Given the description of an element on the screen output the (x, y) to click on. 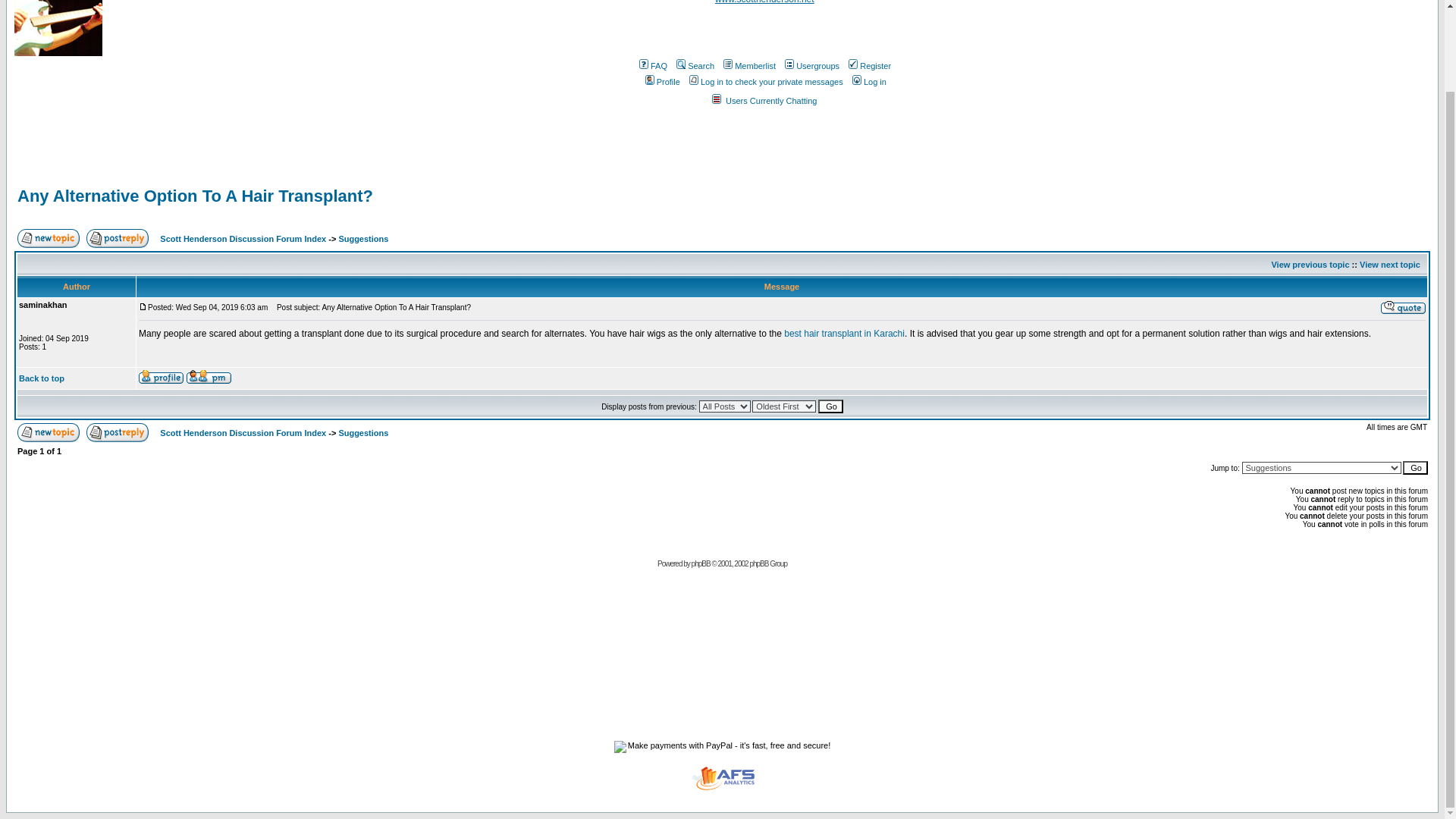
View user's profile (160, 377)
Memberlist (748, 65)
Scott Henderson Discussion Forum Index (243, 432)
Advertisement (764, 173)
FAQ (651, 65)
Go (830, 406)
www.scotthenderson.net (763, 2)
Search (694, 65)
Back to top (41, 378)
phpBB (700, 563)
